Given the description of an element on the screen output the (x, y) to click on. 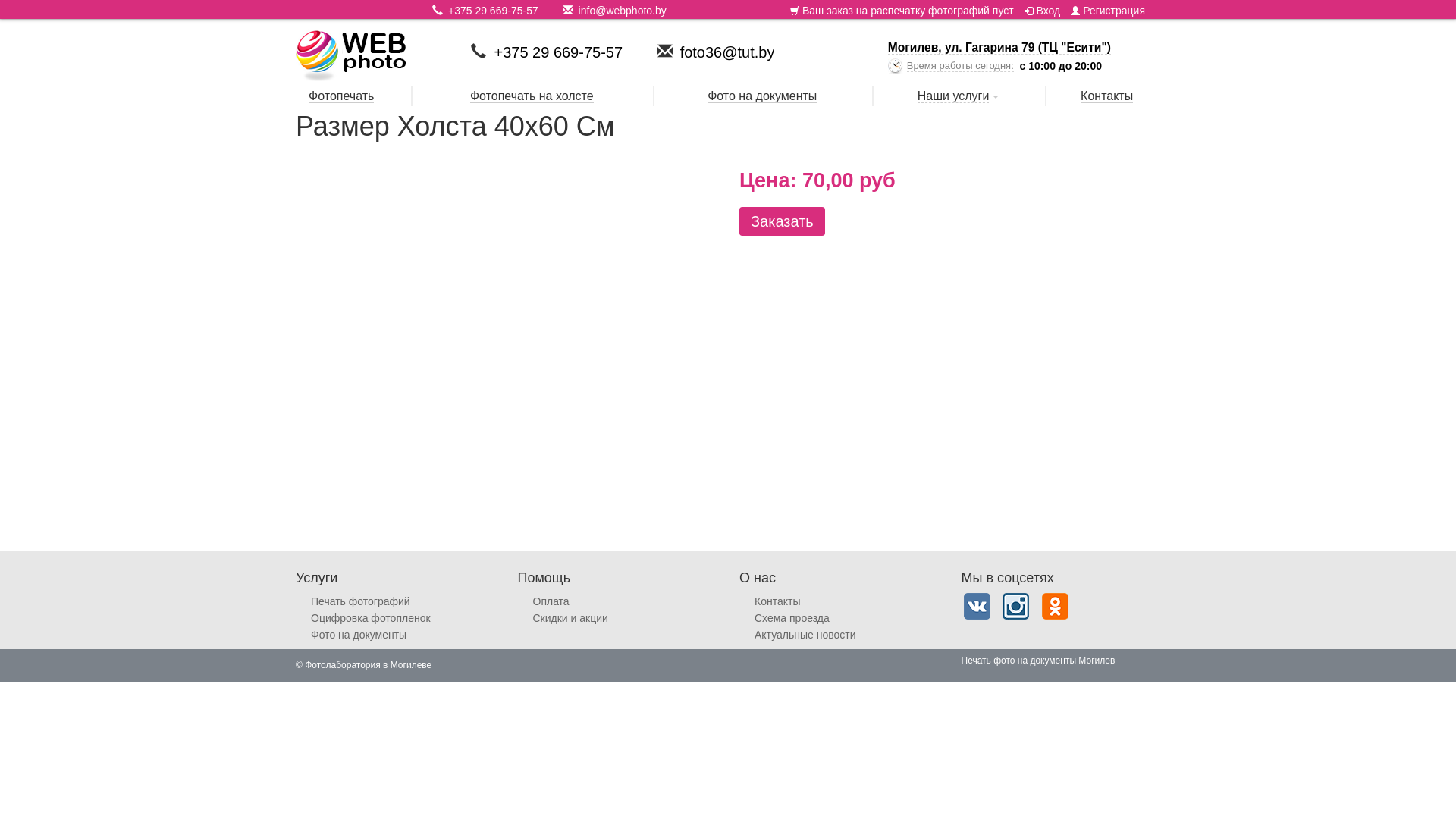
+375 29 669-75-57 Element type: text (557, 51)
Instagram Element type: hover (1015, 606)
LiveInternet Element type: hover (446, 665)
+375 29 669-75-57 Element type: text (493, 10)
foto36@tut.by Element type: text (727, 51)
info@webphoto.by Element type: text (622, 10)
